Given the description of an element on the screen output the (x, y) to click on. 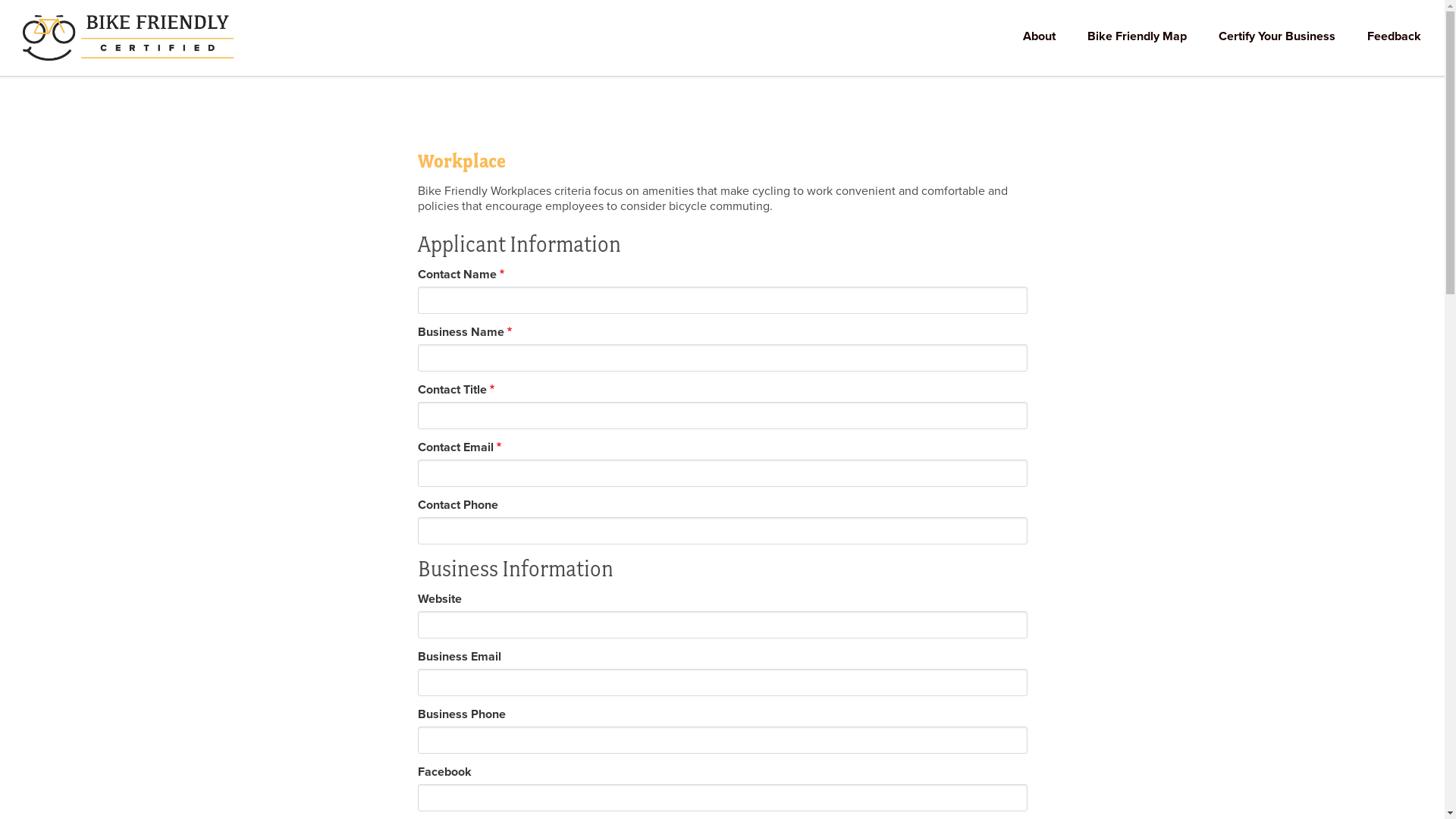
Feedback Element type: text (1393, 37)
About Element type: text (1039, 37)
Certify Your Business Element type: text (1276, 37)
Skip to main content Element type: text (0, 0)
Bike Friendly Map Element type: text (1136, 37)
